Given the description of an element on the screen output the (x, y) to click on. 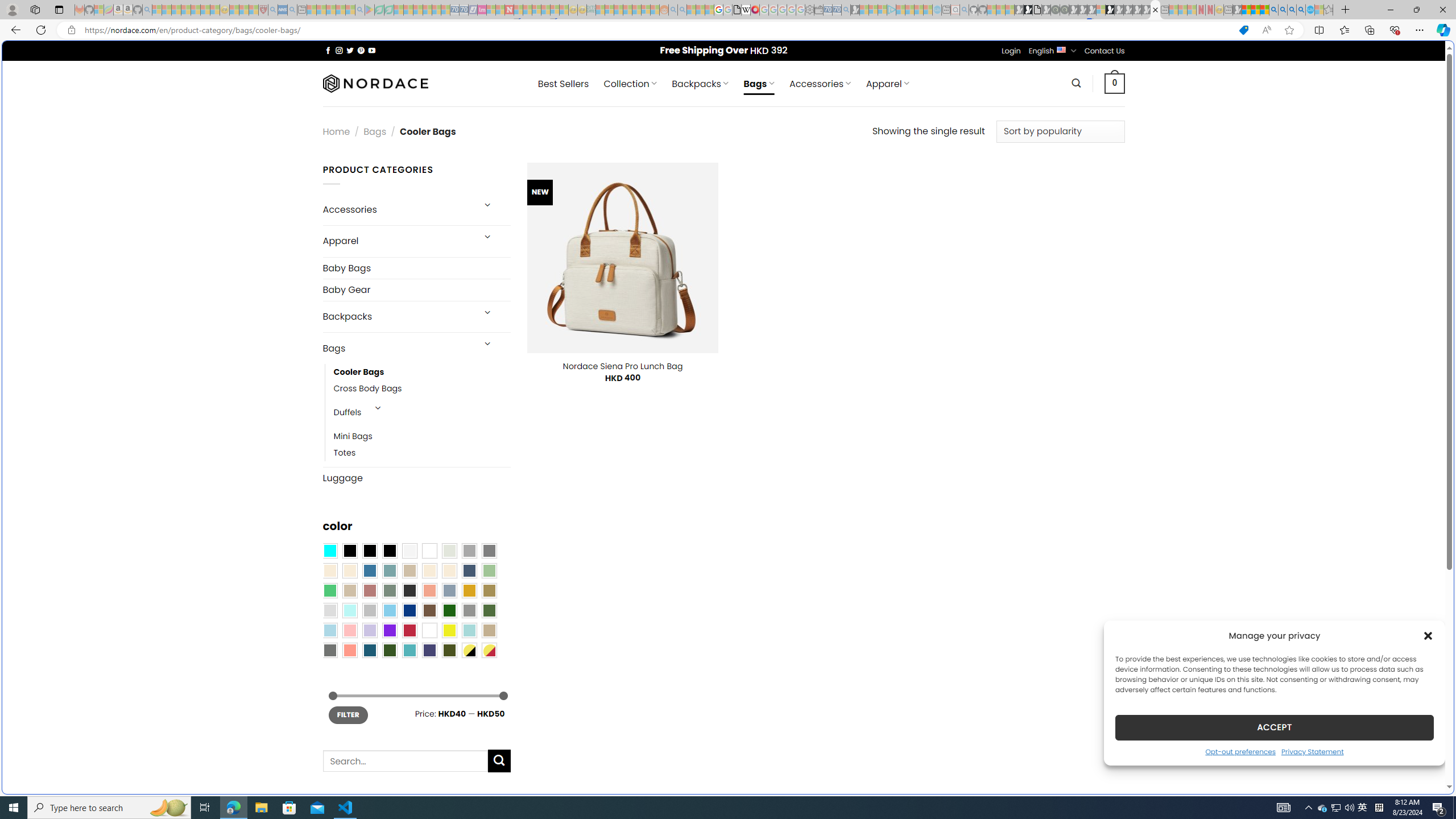
Totes (422, 452)
 Best Sellers (563, 83)
Future Focus Report 2024 - Sleeping (1064, 9)
Submit (499, 760)
All Black (349, 550)
Purple (389, 630)
Gray (468, 610)
Gold (468, 590)
